Given the description of an element on the screen output the (x, y) to click on. 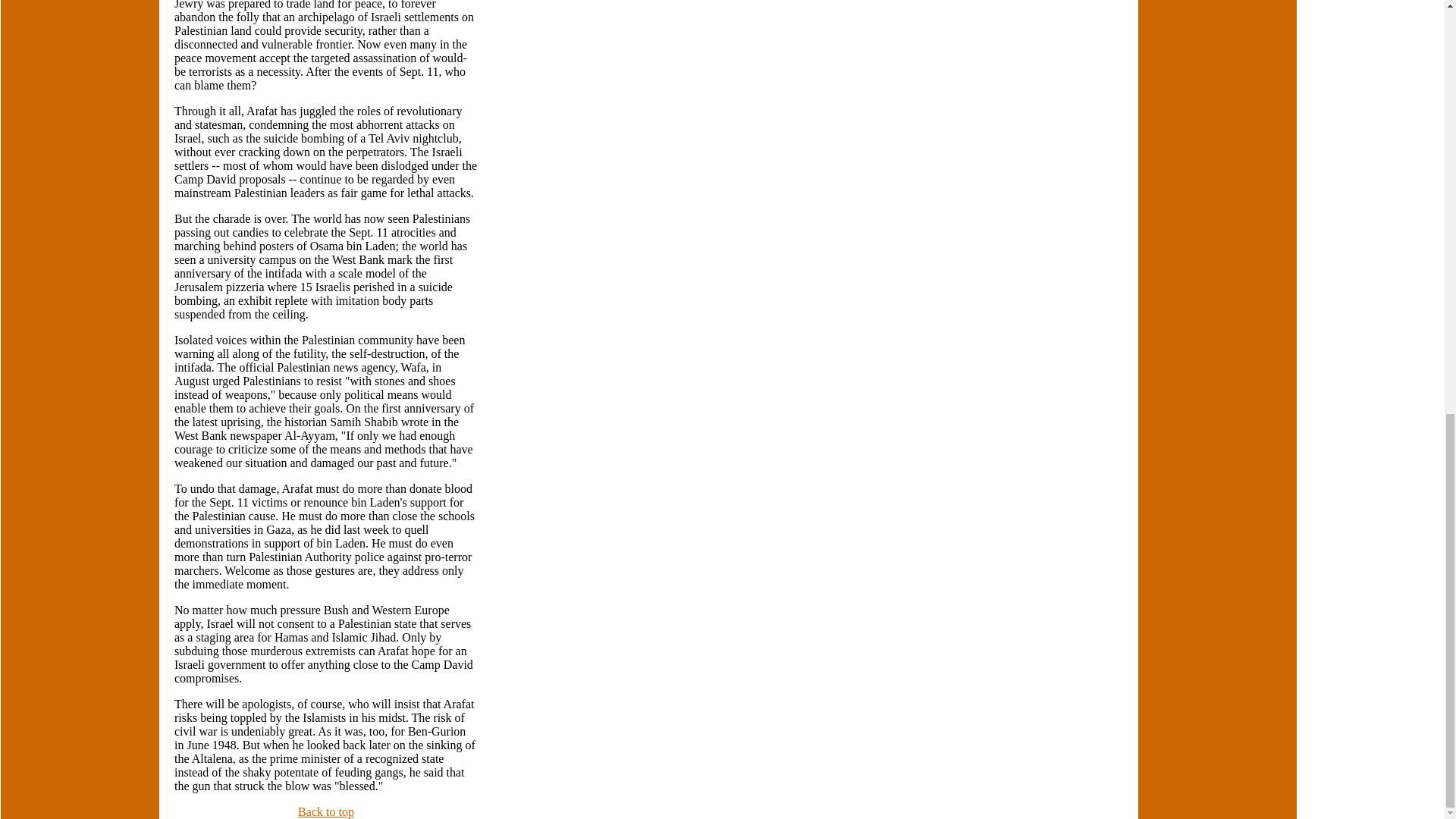
Back to top (325, 811)
